Given the description of an element on the screen output the (x, y) to click on. 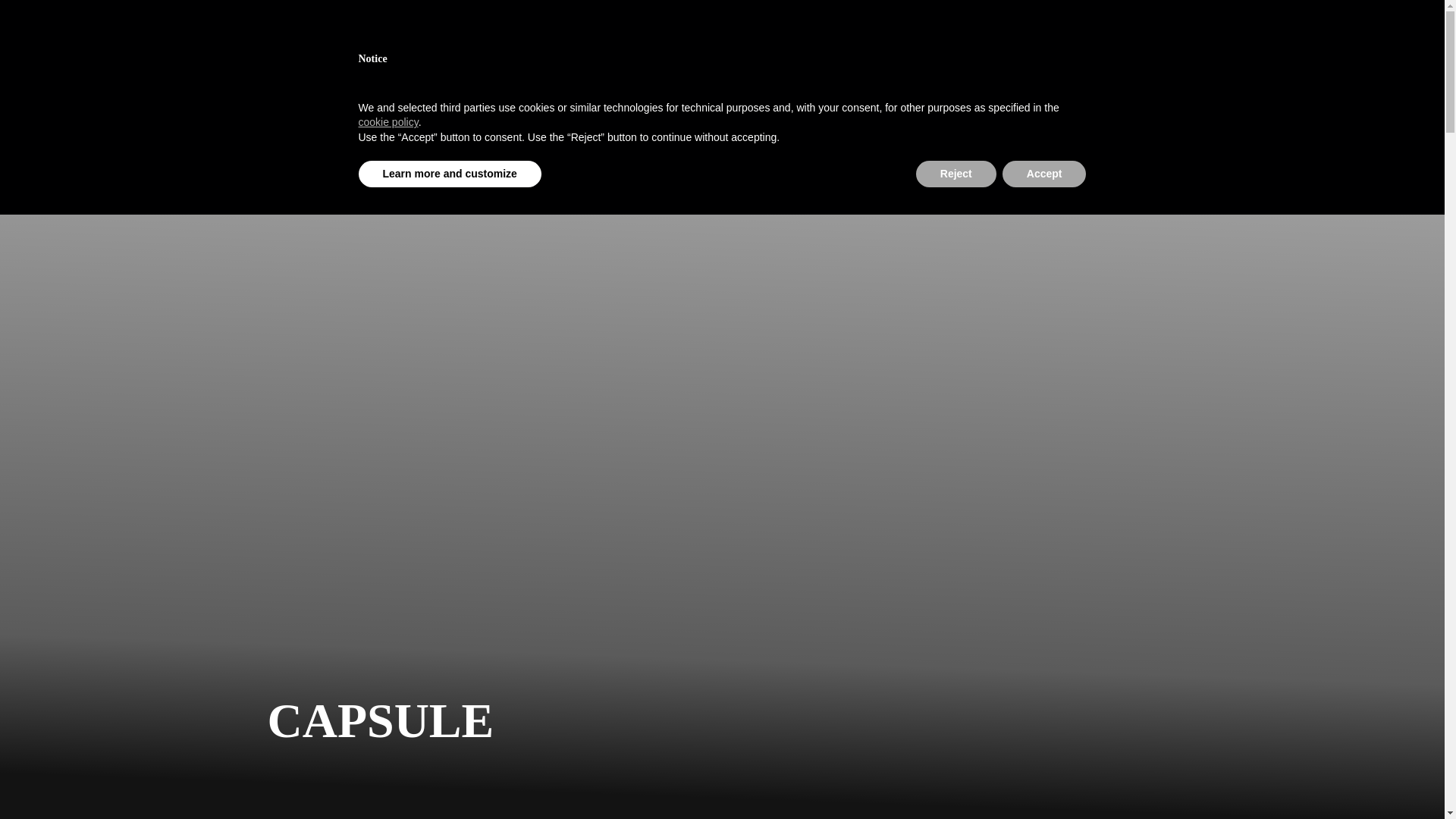
Manni GreenTech - Homepage (378, 37)
cookie policy (387, 121)
